Given the description of an element on the screen output the (x, y) to click on. 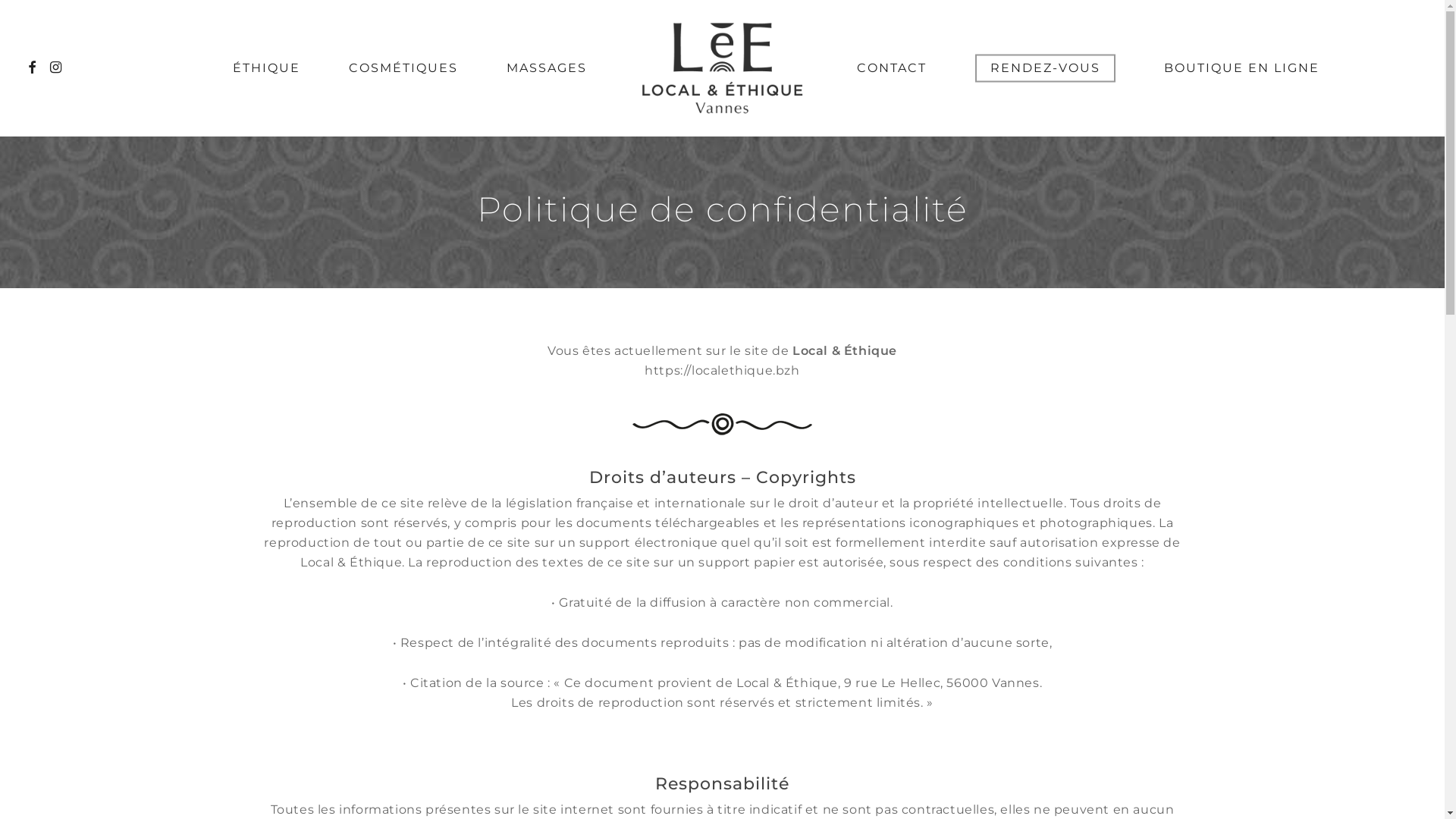
FACEBOOK Element type: text (31, 67)
INSTAGRAM Element type: text (55, 67)
CONTACT Element type: text (891, 68)
MASSAGES Element type: text (546, 68)
RENDEZ-VOUS Element type: text (1045, 68)
BOUTIQUE EN LIGNE Element type: text (1241, 68)
